Given the description of an element on the screen output the (x, y) to click on. 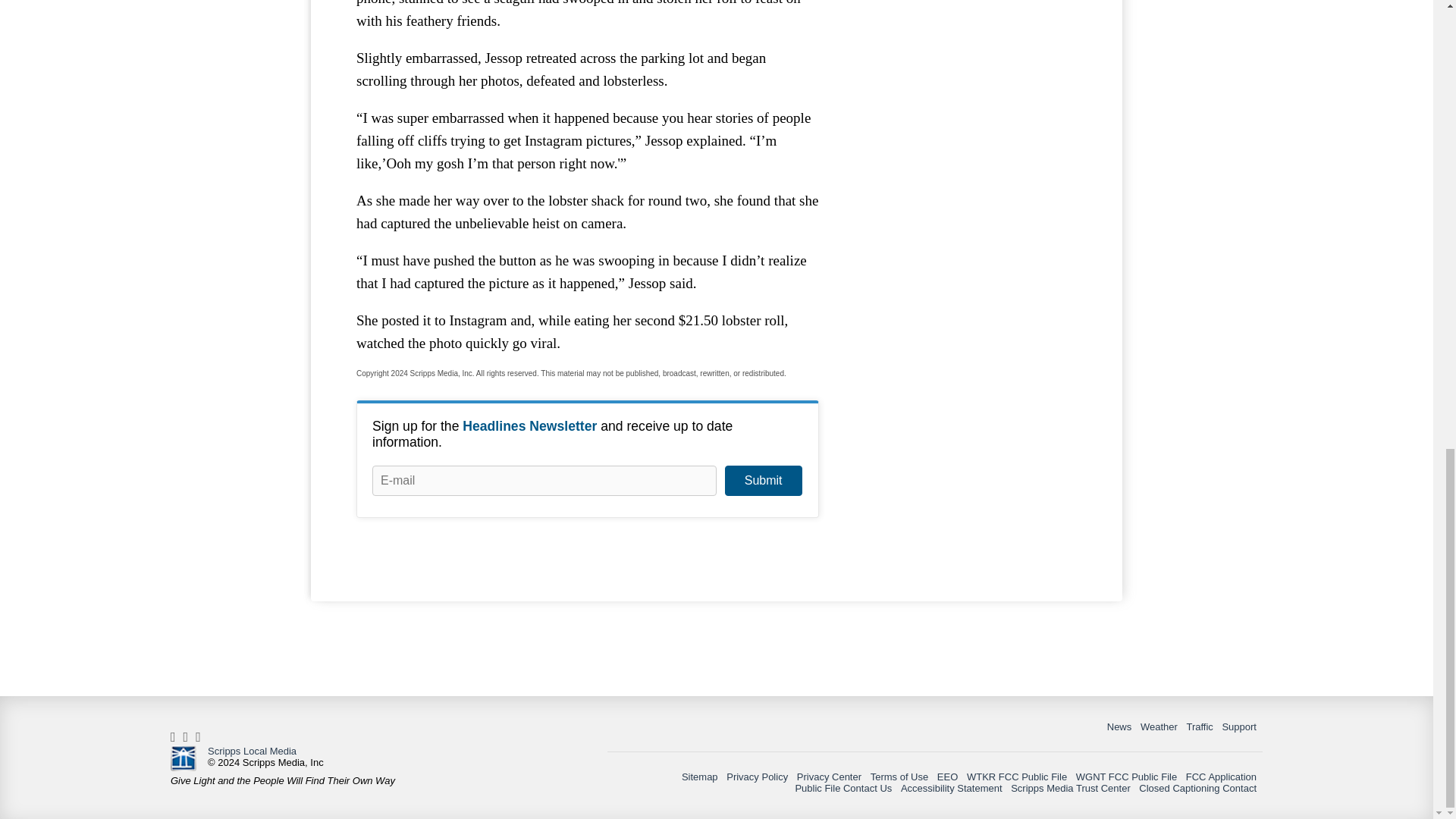
Submit (763, 481)
